Given the description of an element on the screen output the (x, y) to click on. 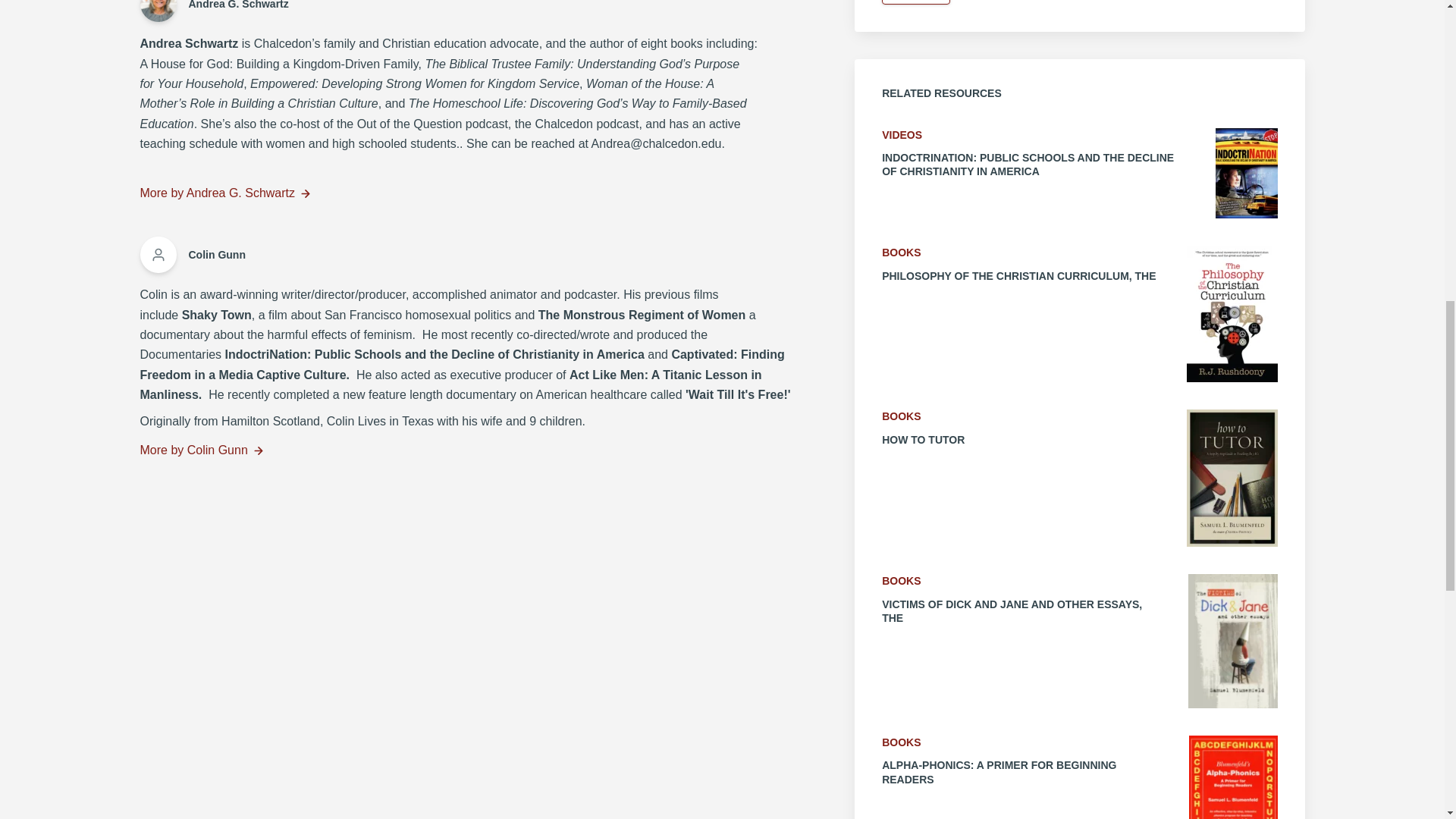
Out of the Question podcast (432, 123)
More by Andrea G. Schwartz (466, 192)
Chalcedon podcast (586, 123)
More by Colin Gunn (466, 450)
Donate (916, 2)
